Given the description of an element on the screen output the (x, y) to click on. 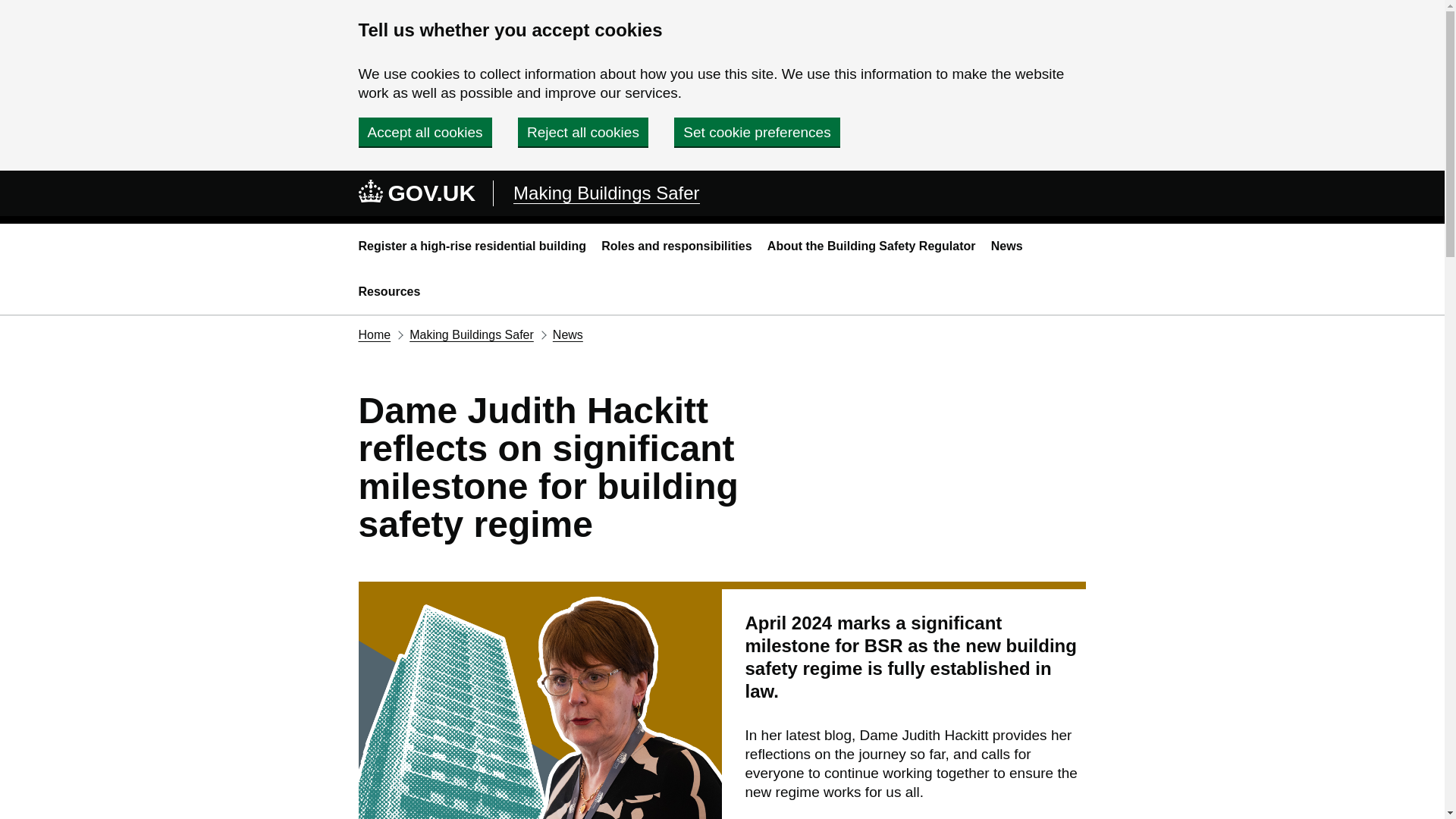
Roles and responsibilities (676, 246)
Making Buildings Safer (605, 192)
About the Building Safety Regulator (871, 246)
GOV.UK (417, 193)
Register a high-rise residential building (472, 246)
Resources (389, 291)
Set cookie preferences (757, 131)
Accept all cookies (425, 131)
Home (374, 334)
News (568, 334)
Skip to main content (11, 7)
Making Buildings Safer (471, 334)
Reject all cookies (582, 131)
